Given the description of an element on the screen output the (x, y) to click on. 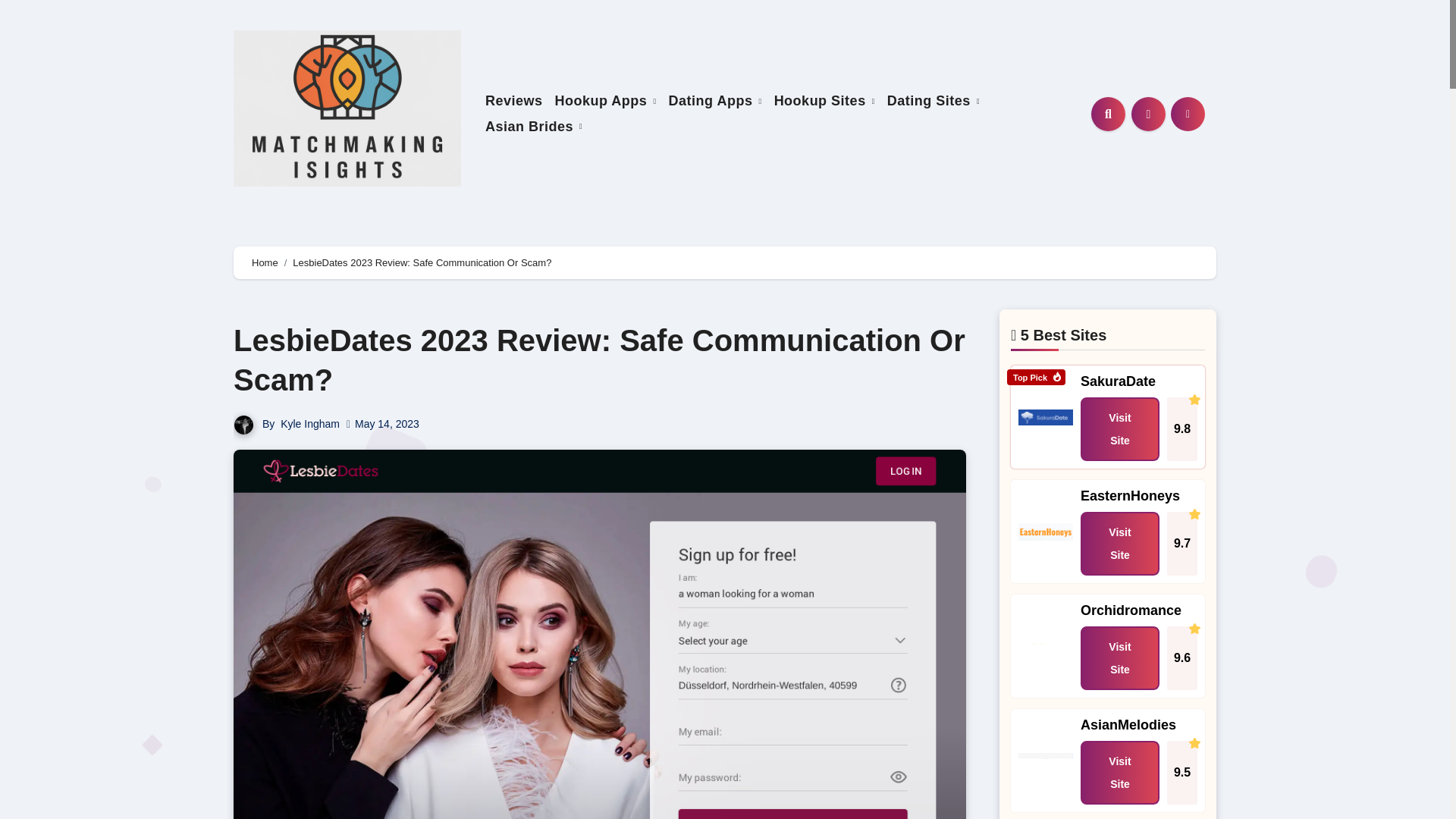
Dating Sites (932, 100)
Hookup Apps (605, 100)
Reviews (513, 100)
Dating Apps (715, 100)
Hookup Sites (824, 100)
Dating Apps (715, 100)
Asian Brides (533, 126)
Hookup Apps (605, 100)
Hookup Sites (824, 100)
Dating Sites (932, 100)
